Given the description of an element on the screen output the (x, y) to click on. 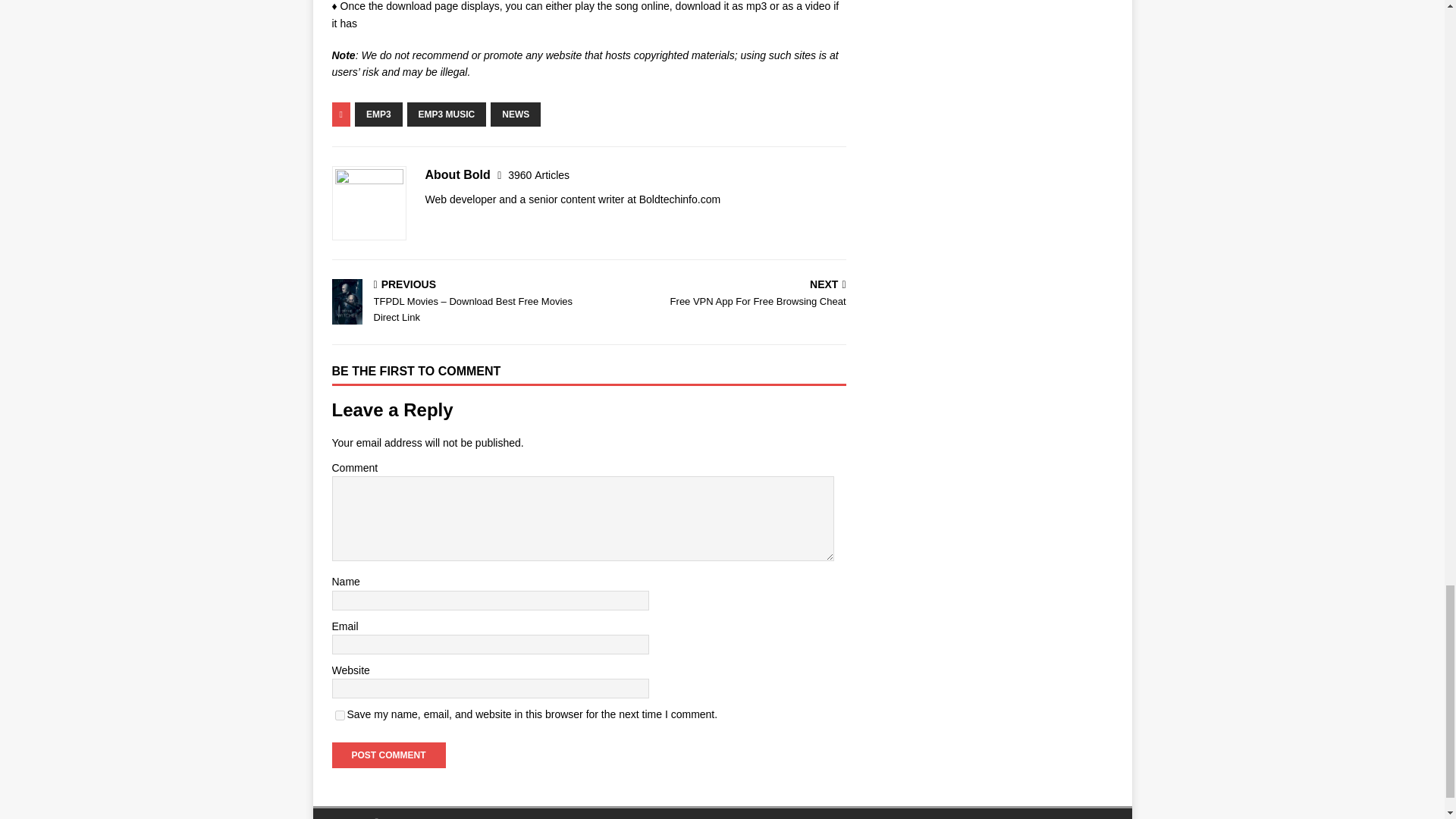
Post Comment (388, 755)
yes (339, 715)
More articles written by Bold' (538, 174)
